Given the description of an element on the screen output the (x, y) to click on. 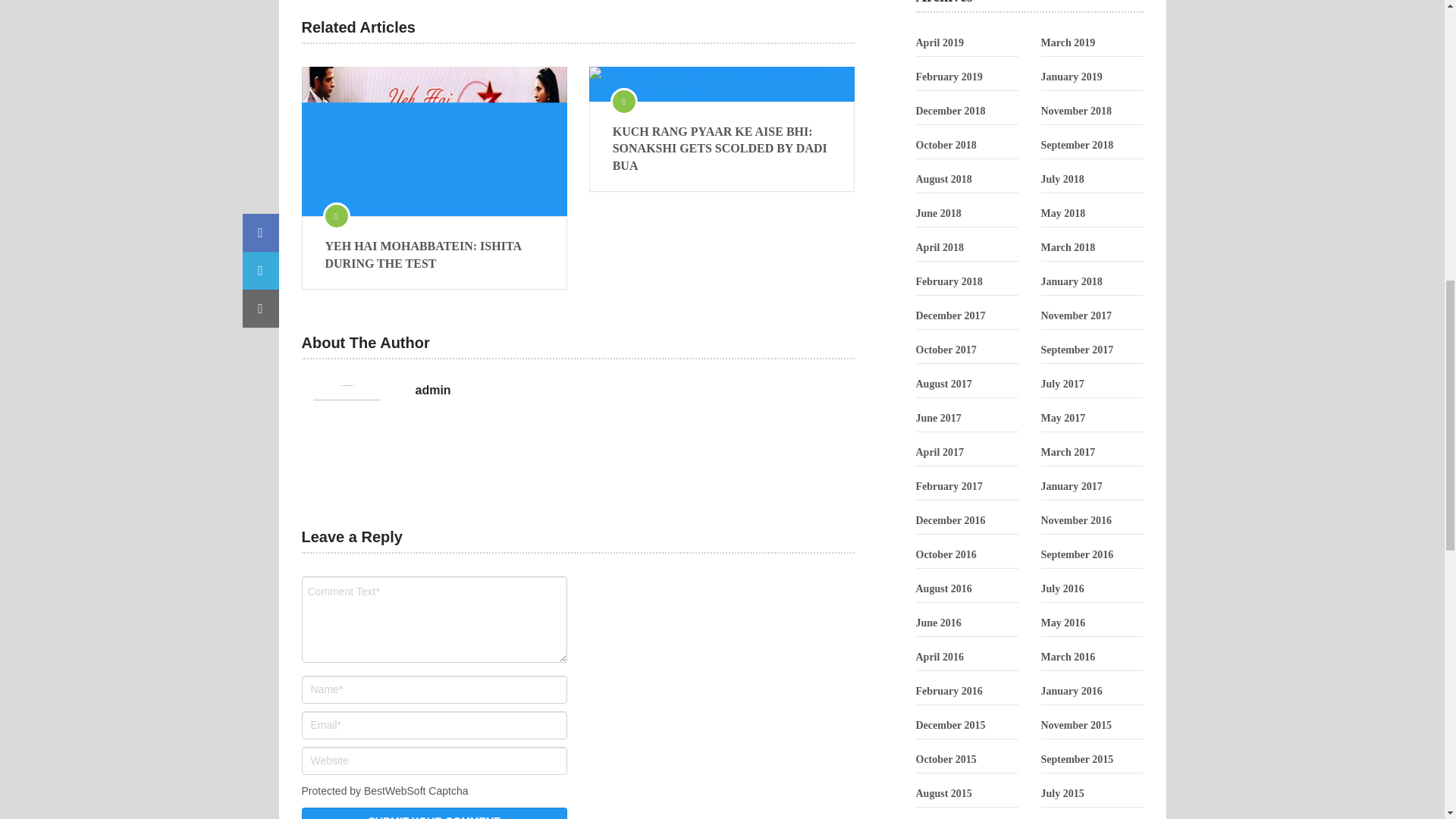
YEH HAI MOHABBATEIN: ISHITA DURING THE TEST (433, 254)
YEH HAI MOHABBATEIN: ISHITA DURING THE TEST (433, 254)
YEH HAI MOHABBATEIN: ISHITA DURING THE TEST (434, 141)
admin (432, 390)
Submit Your Comment (434, 813)
Submit Your Comment (434, 813)
